Given the description of an element on the screen output the (x, y) to click on. 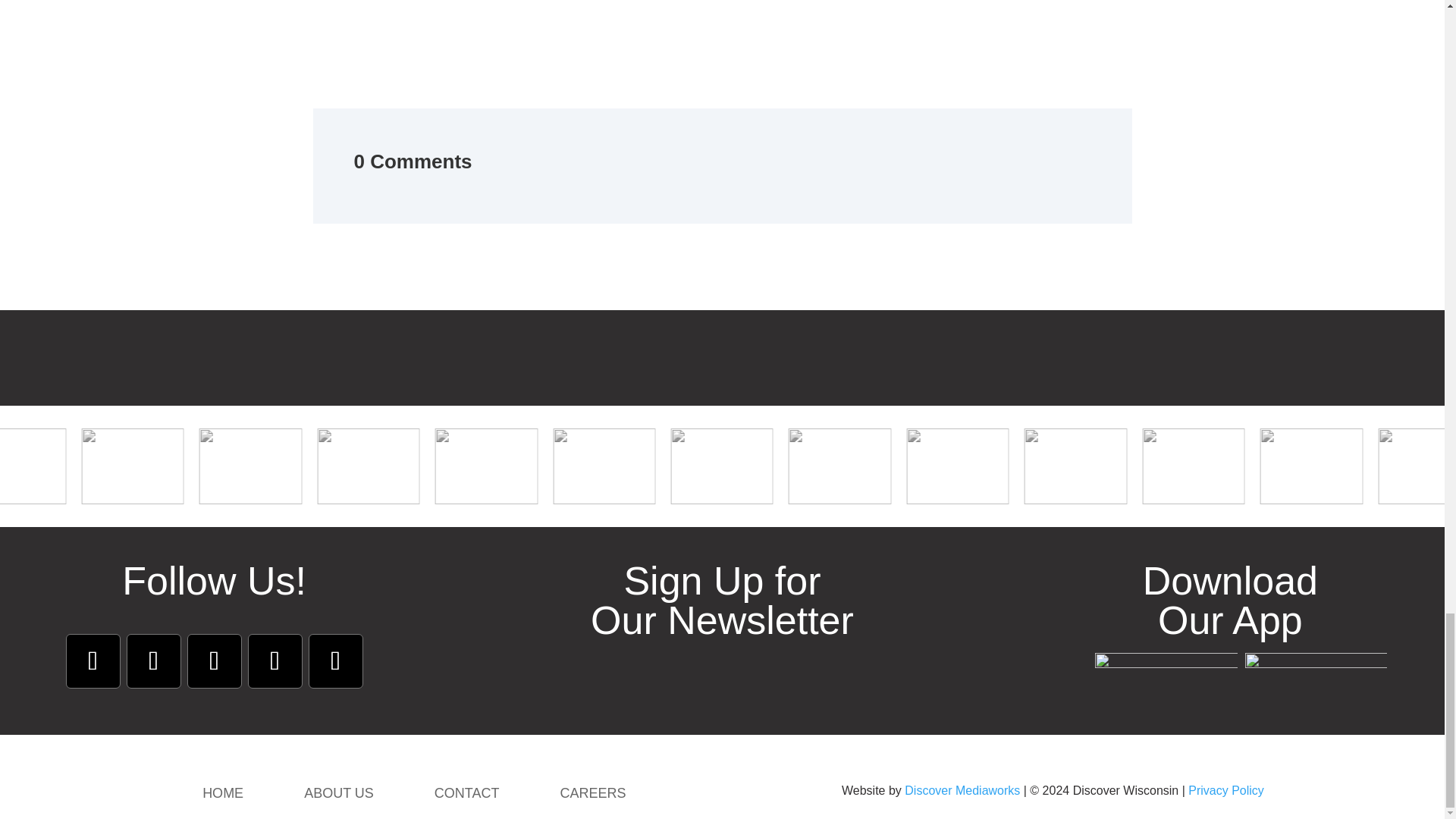
Follow on Facebook (92, 660)
Follow on Instagram (153, 660)
Follow on Youtube (214, 660)
Follow on X (274, 660)
app-store-standard-e1630061633906 (1165, 673)
Follow on TikTok (335, 660)
google-play-standard-e1630061644951 (1315, 673)
